Given the description of an element on the screen output the (x, y) to click on. 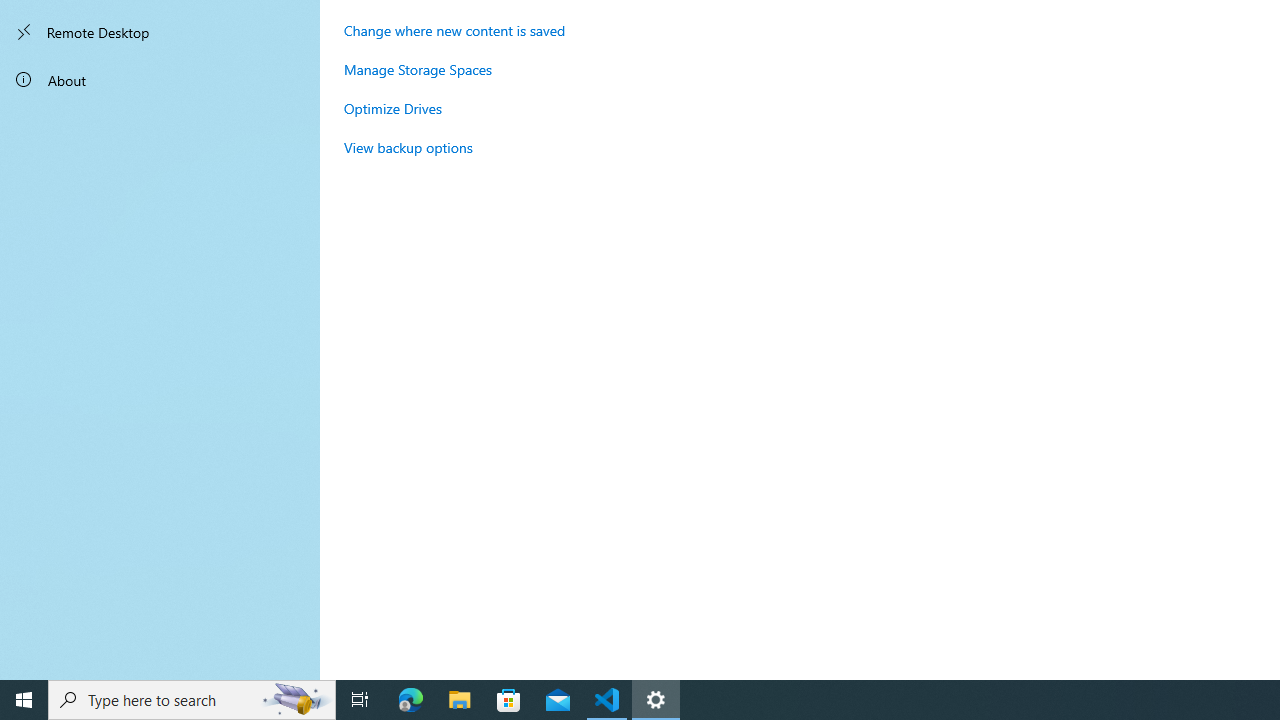
Remote Desktop (160, 31)
Type here to search (191, 699)
Start (24, 699)
Microsoft Edge (411, 699)
File Explorer (460, 699)
Task View (359, 699)
Change where new content is saved (454, 30)
Visual Studio Code - 1 running window (607, 699)
Optimize Drives (392, 108)
Microsoft Store (509, 699)
Settings - 1 running window (656, 699)
About (160, 79)
Search highlights icon opens search home window (295, 699)
Manage Storage Spaces (417, 69)
